Given the description of an element on the screen output the (x, y) to click on. 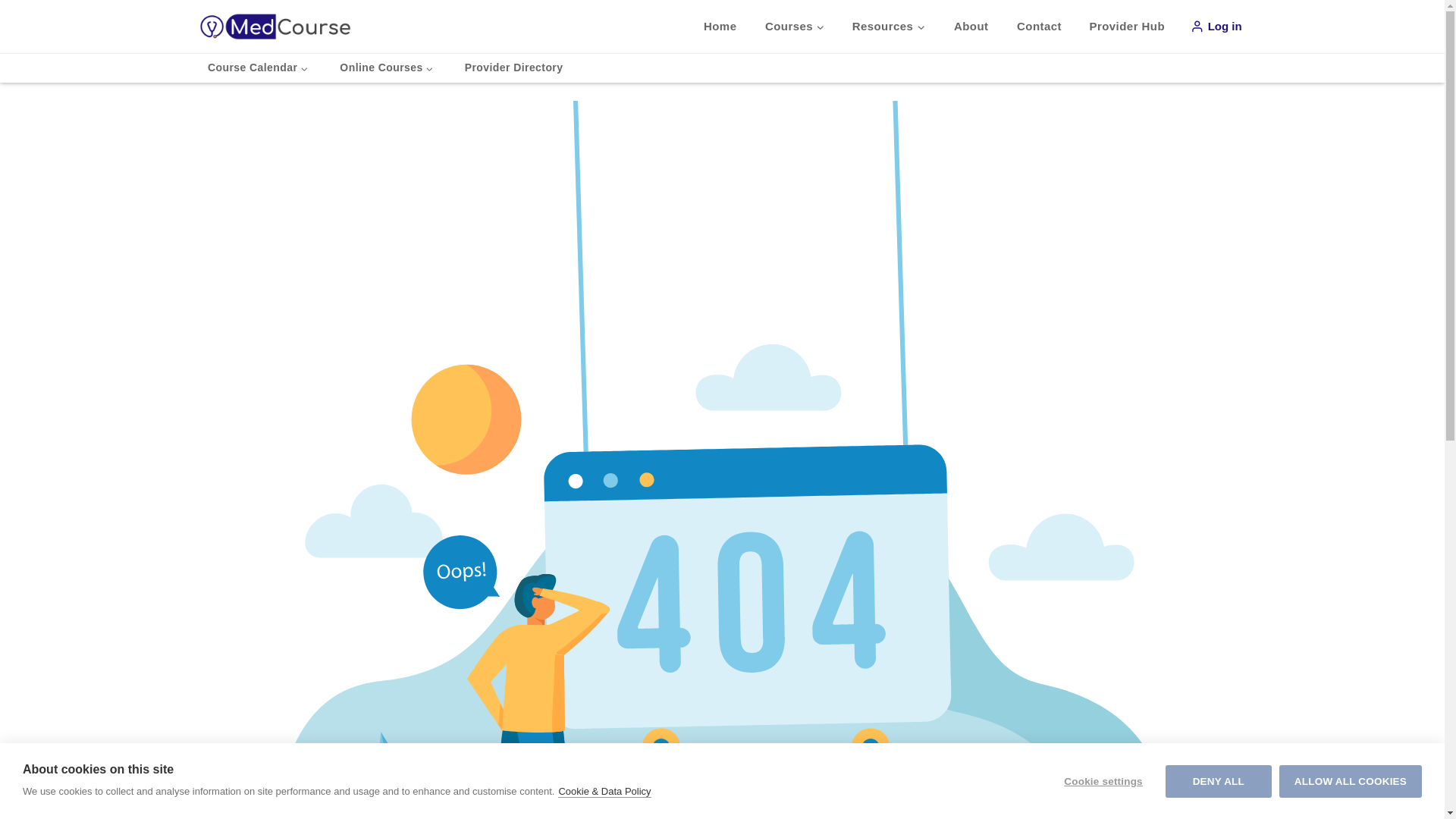
Provider Hub (1127, 27)
About (971, 27)
Course Calendar (256, 68)
Courses (794, 27)
Home (719, 27)
Resources (888, 27)
Log in (1215, 26)
Contact (1039, 27)
